Given the description of an element on the screen output the (x, y) to click on. 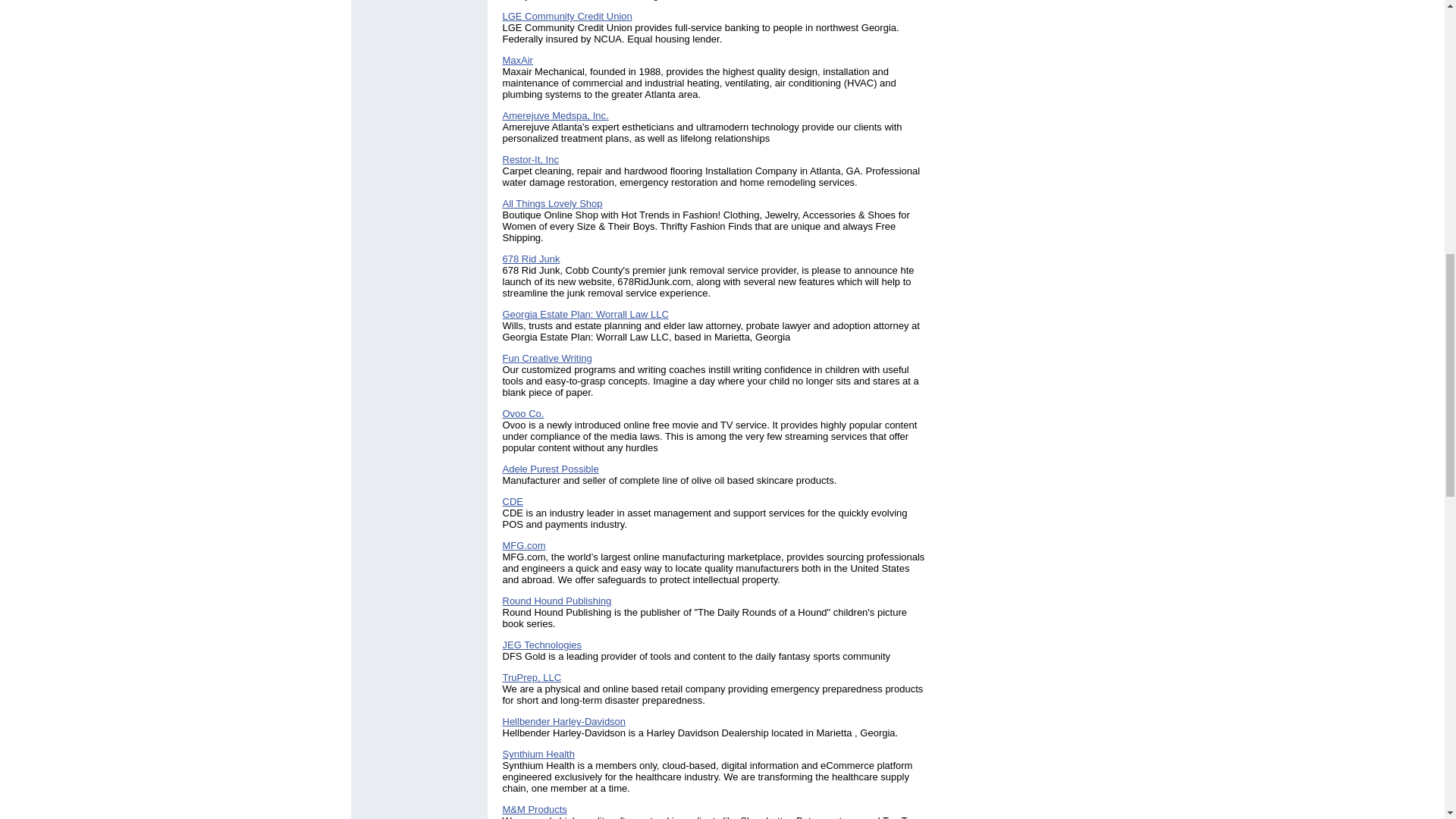
MaxAir (517, 60)
Georgia Estate Plan: Worrall Law LLC (585, 314)
678 Rid Junk (530, 258)
LGE Community Credit Union (566, 16)
Fun Creative Writing (546, 357)
All Things Lovely Shop (552, 203)
Amerejuve Medspa, Inc. (555, 115)
Ovoo Co. (522, 413)
Restor-It, Inc (529, 159)
